Given the description of an element on the screen output the (x, y) to click on. 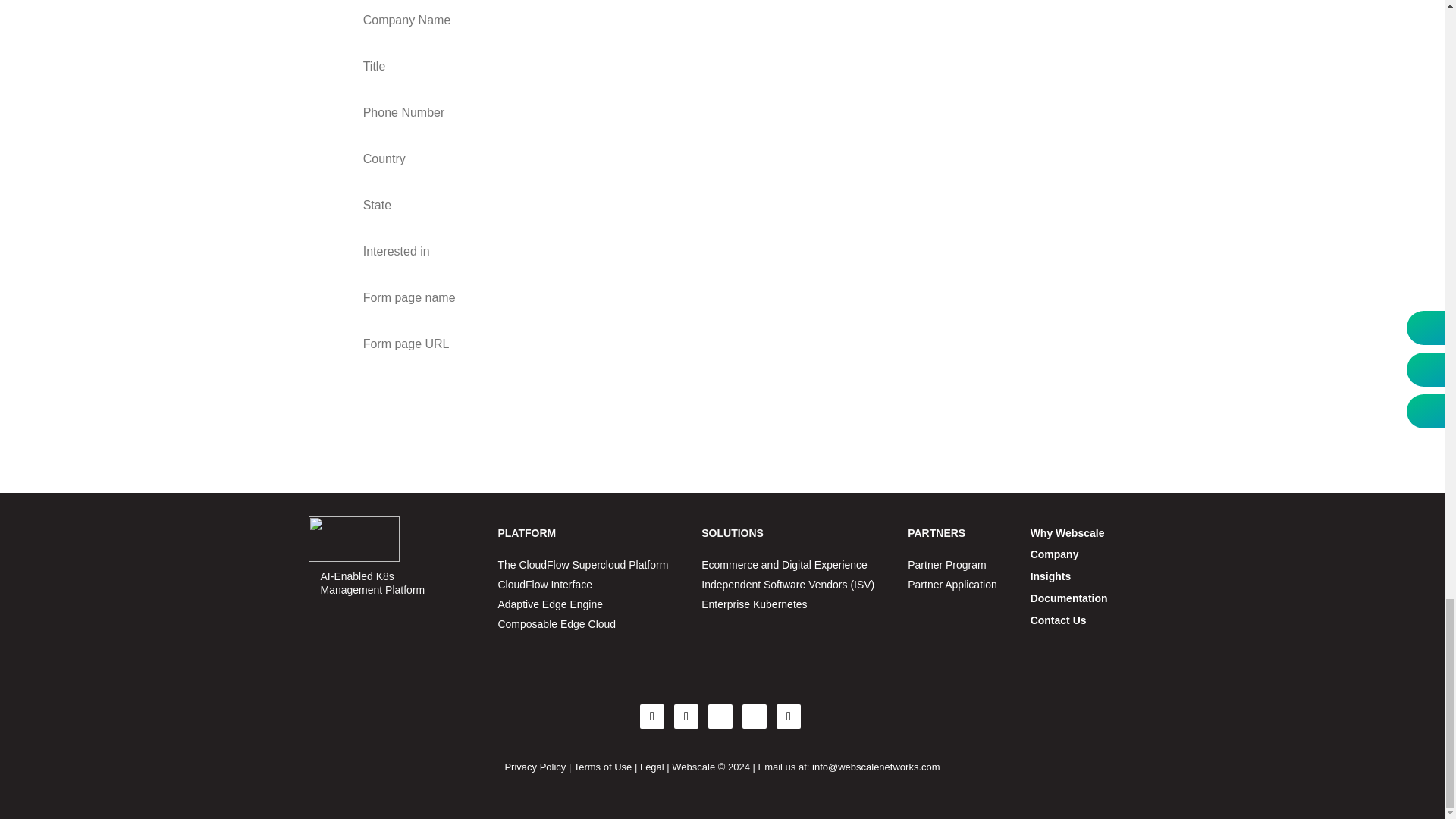
Follow on LinkedIn (719, 716)
Follow on Last.fm (788, 716)
Follow on Facebook (651, 716)
Follow on Youtube (754, 716)
Follow on X (686, 716)
